Given the description of an element on the screen output the (x, y) to click on. 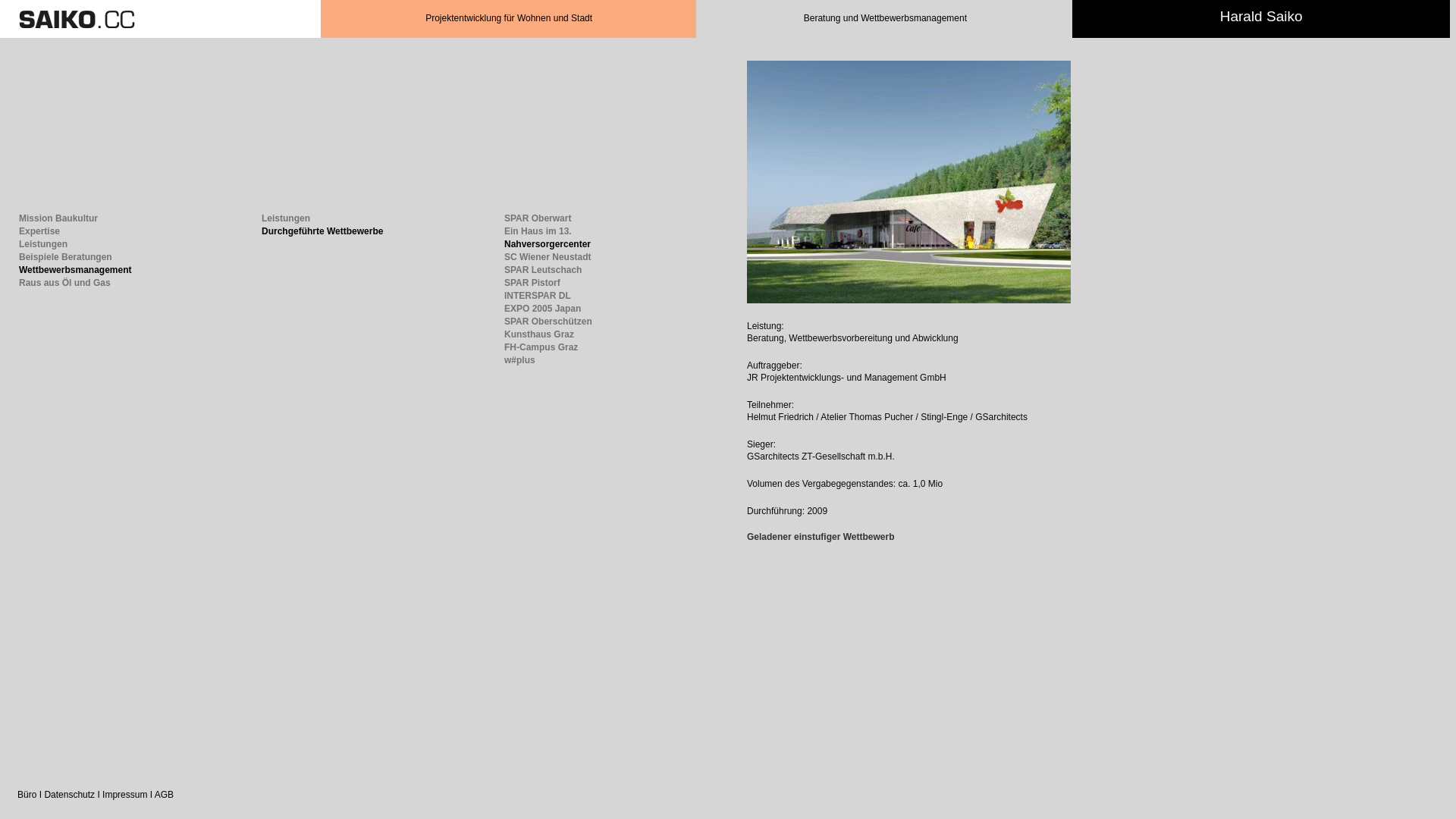
INTERSPAR DL Element type: text (544, 295)
SPAR Pistorf Element type: text (544, 282)
Kunsthaus Graz Element type: text (544, 334)
Wettbewerbsmanagement Element type: text (71, 269)
EXPO 2005 Japan Element type: text (544, 308)
SC Wiener Neustadt Element type: text (544, 257)
Impressum Element type: text (124, 794)
SPAR Oberwart Element type: text (544, 218)
FH-Campus Graz Element type: text (544, 347)
Nahversorgercenter Element type: text (544, 244)
Leistungen Element type: text (71, 244)
w#plus Element type: text (544, 360)
Mission Baukultur Element type: text (71, 218)
Beratung und Wettbewerbsmanagement Element type: text (884, 18)
Harald Saiko Element type: text (1261, 18)
Expertise Element type: text (71, 231)
Leistungen Element type: text (318, 218)
Beispiele Beratungen Element type: text (71, 257)
SPAR Leutschach Element type: text (544, 269)
Ein Haus im 13. Element type: text (544, 231)
Datenschutz Element type: text (68, 794)
AGB Element type: text (163, 794)
